Given the description of an element on the screen output the (x, y) to click on. 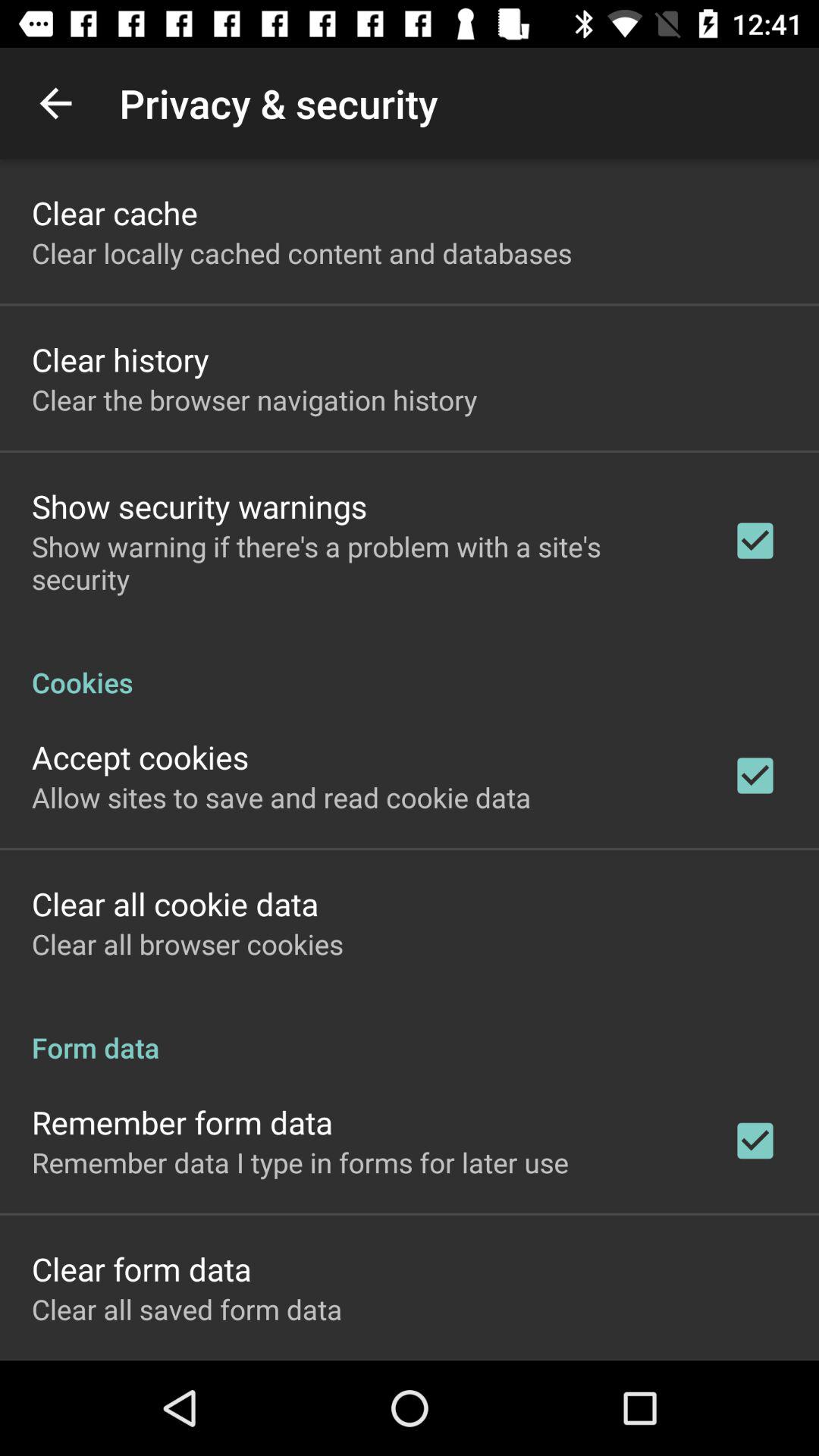
click on check box right to accept cookies (755, 776)
